Given the description of an element on the screen output the (x, y) to click on. 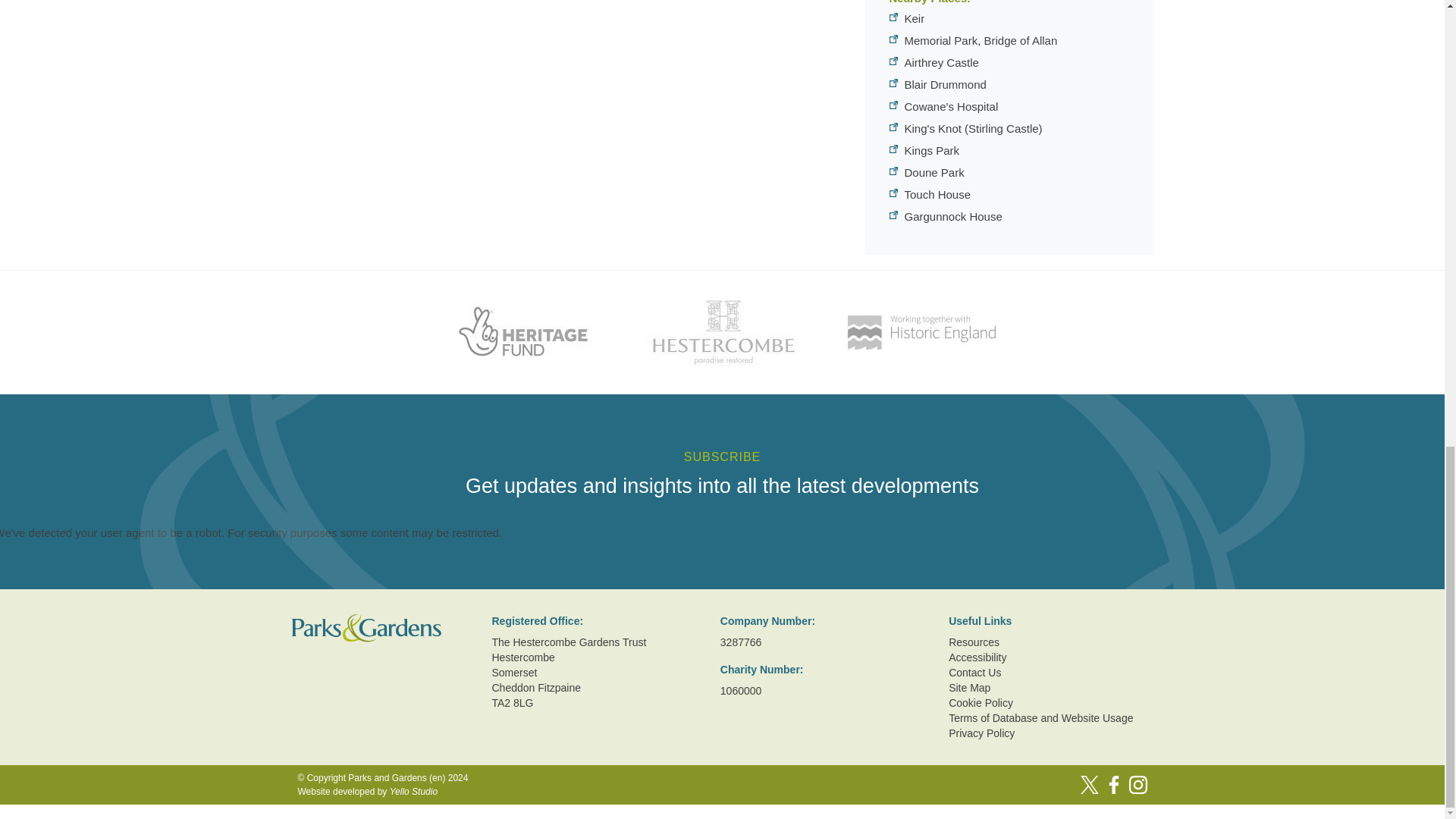
Designed and developed by Yello Studio (382, 791)
